Given the description of an element on the screen output the (x, y) to click on. 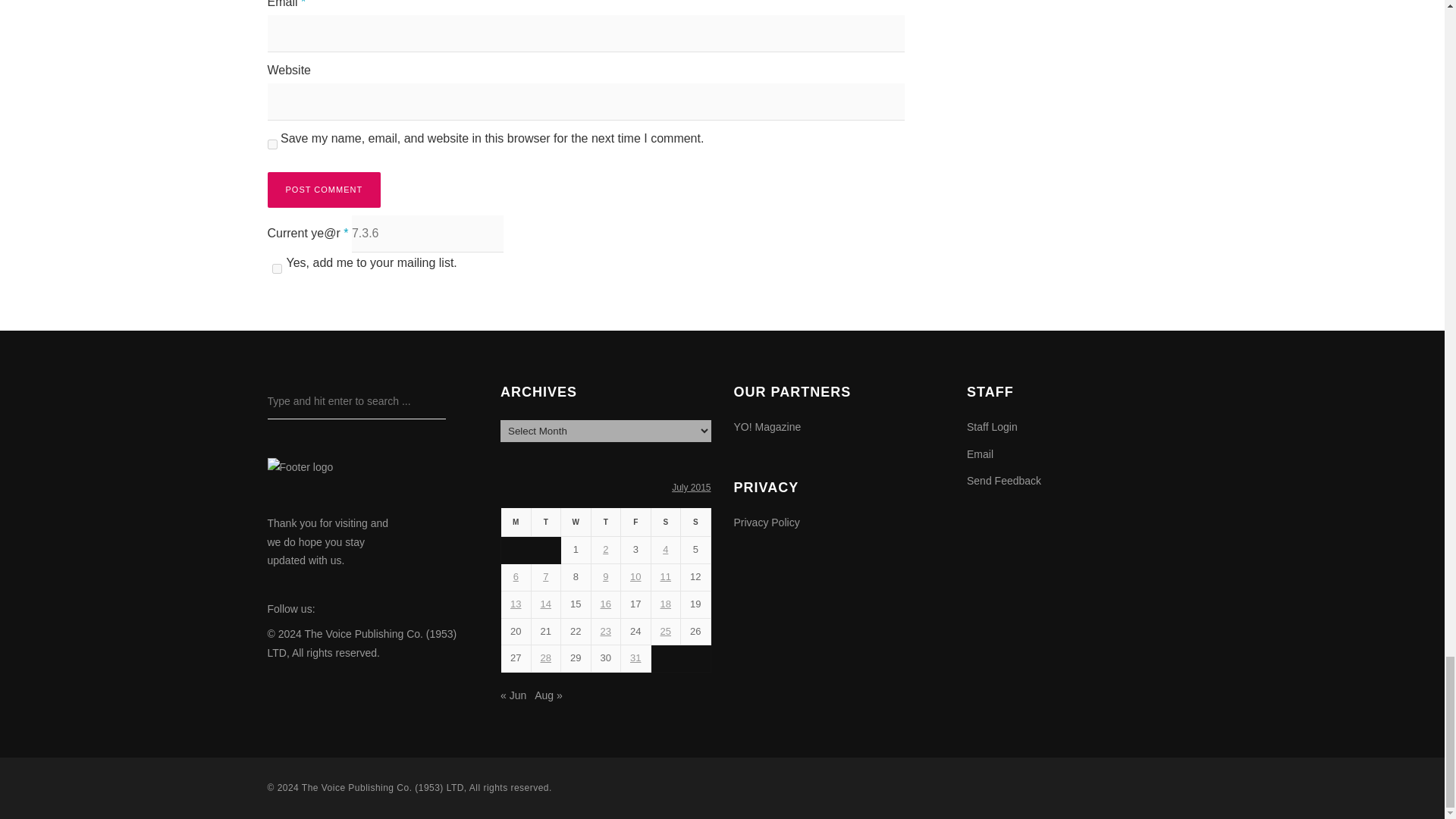
1 (275, 268)
7.3.6 (427, 233)
Post Comment (323, 189)
Monday (515, 522)
Type and hit enter to search ... (355, 401)
yes (271, 144)
Type and hit enter to search ... (355, 401)
